Given the description of an element on the screen output the (x, y) to click on. 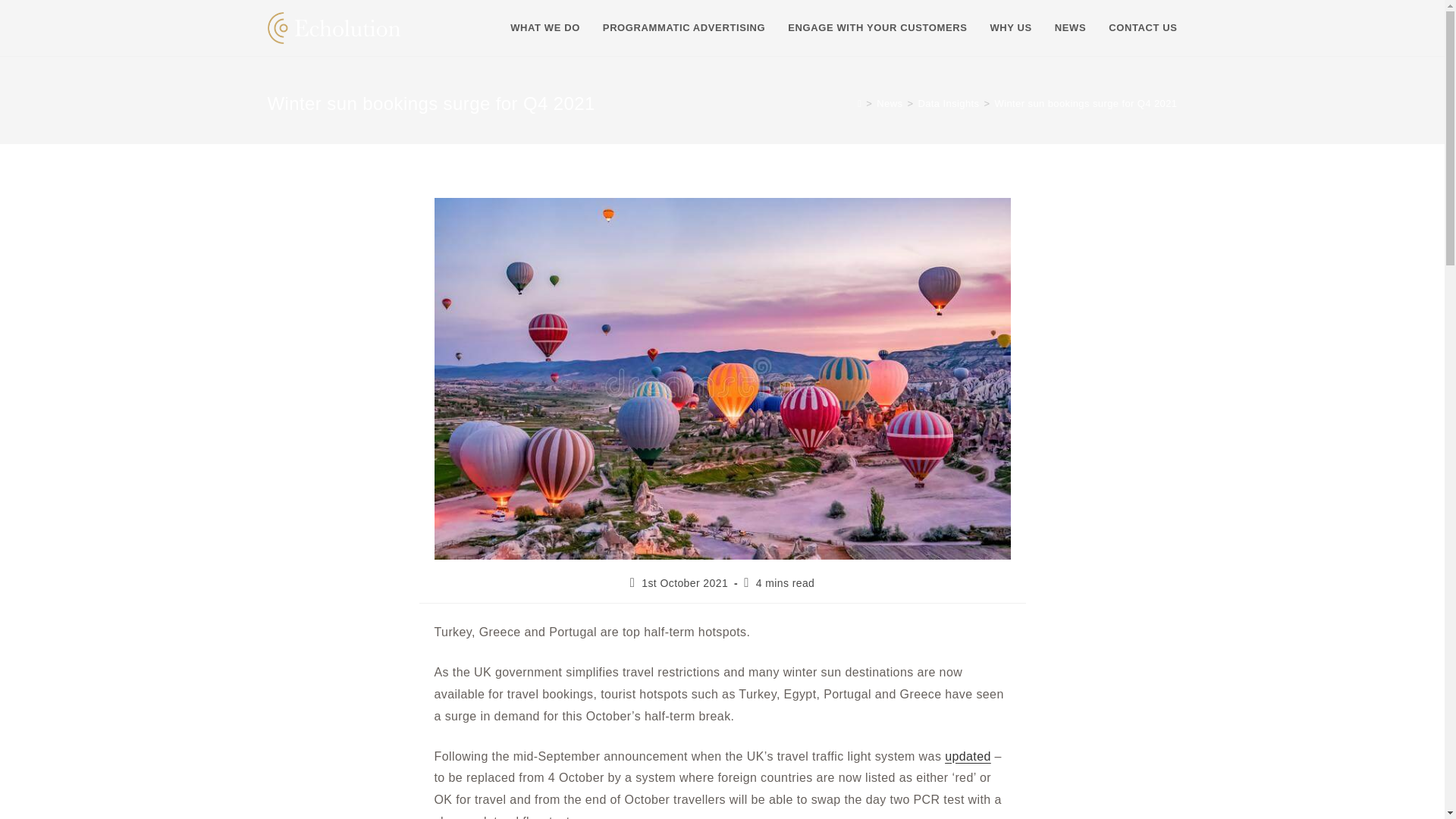
PROGRAMMATIC ADVERTISING (683, 28)
WHY US (1010, 28)
NEWS (1070, 28)
updated (967, 756)
Data Insights (947, 102)
WHAT WE DO (545, 28)
Winter sun bookings surge for Q4 2021 (1085, 102)
CONTACT US (1142, 28)
ENGAGE WITH YOUR CUSTOMERS (877, 28)
News (889, 102)
